Given the description of an element on the screen output the (x, y) to click on. 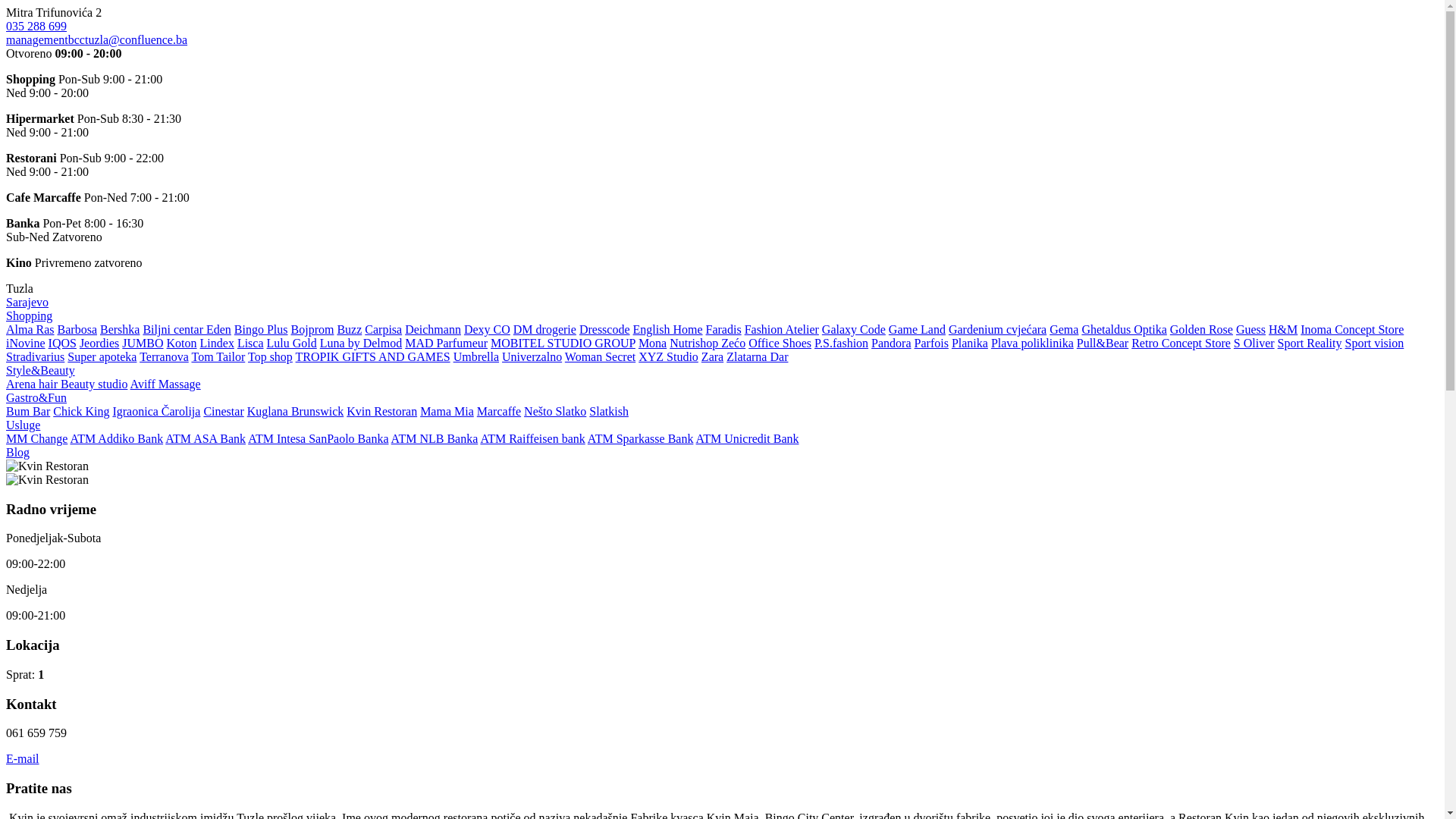
Golden Rose Element type: text (1201, 329)
Carpisa Element type: text (382, 329)
Buzz Element type: text (348, 329)
Mona Element type: text (652, 342)
035 288 699 Element type: text (36, 25)
Barbosa Element type: text (77, 329)
Blog Element type: text (17, 451)
Parfois Element type: text (931, 342)
TROPIK GIFTS AND GAMES Element type: text (372, 356)
Fashion Atelier Element type: text (781, 329)
DM drogerie Element type: text (544, 329)
Style&Beauty Element type: text (40, 370)
Kuglana Brunswick Element type: text (295, 410)
IQOS Element type: text (62, 342)
MM Change Element type: text (36, 438)
XYZ Studio Element type: text (668, 356)
Alma Ras Element type: text (30, 329)
Office Shoes Element type: text (779, 342)
ATM Sparkasse Bank Element type: text (640, 438)
Retro Concept Store Element type: text (1180, 342)
Koton Element type: text (181, 342)
Usluge Element type: text (23, 424)
Shopping Element type: text (29, 315)
ATM Raiffeisen bank Element type: text (532, 438)
ATM NLB Banka Element type: text (434, 438)
English Home Element type: text (667, 329)
Lisca Element type: text (250, 342)
Zara Element type: text (712, 356)
Cinestar Element type: text (223, 410)
Chick King Element type: text (81, 410)
MOBITEL STUDIO GROUP Element type: text (562, 342)
Sarajevo Element type: text (27, 301)
Bershka Element type: text (119, 329)
Guess Element type: text (1250, 329)
ATM ASA Bank Element type: text (205, 438)
Tom Tailor Element type: text (217, 356)
Gastro&Fun Element type: text (36, 397)
MAD Parfumeur Element type: text (445, 342)
H&M Element type: text (1282, 329)
Marcaffe Element type: text (498, 410)
iNovine Element type: text (25, 342)
E-mail Element type: text (22, 758)
Terranova Element type: text (163, 356)
Lindex Element type: text (217, 342)
Top shop Element type: text (269, 356)
Aviff Massage Element type: text (165, 383)
Faradis Element type: text (723, 329)
ATM Unicredit Bank Element type: text (747, 438)
JUMBO Element type: text (142, 342)
Umbrella Element type: text (475, 356)
Kvin Restoran Element type: text (381, 410)
Gema Element type: text (1063, 329)
P.S.fashion Element type: text (841, 342)
Slatkish Element type: text (608, 410)
Luna by Delmod Element type: text (360, 342)
Lulu Gold Element type: text (291, 342)
ATM Addiko Bank Element type: text (116, 438)
ATM Intesa SanPaolo Banka Element type: text (317, 438)
Inoma Concept Store Element type: text (1351, 329)
Sport Reality Element type: text (1309, 342)
Sport vision Element type: text (1374, 342)
managementbcctuzla@confluence.ba Element type: text (96, 39)
Univerzalno Element type: text (531, 356)
Game Land Element type: text (916, 329)
Bojprom Element type: text (312, 329)
Zlatarna Dar Element type: text (756, 356)
Bingo Plus Element type: text (261, 329)
Bum Bar Element type: text (28, 410)
Arena hair Beauty studio Element type: text (66, 383)
Super apoteka Element type: text (101, 356)
Dresscode Element type: text (604, 329)
Dexy CO Element type: text (487, 329)
Planika Element type: text (969, 342)
Ghetaldus Optika Element type: text (1123, 329)
Woman Secret Element type: text (599, 356)
Stradivarius Element type: text (35, 356)
Plava poliklinika Element type: text (1032, 342)
Mama Mia Element type: text (446, 410)
Galaxy Code Element type: text (853, 329)
Jeordies Element type: text (99, 342)
Pull&Bear Element type: text (1102, 342)
Pandora Element type: text (890, 342)
Biljni centar Eden Element type: text (186, 329)
S Oliver Element type: text (1253, 342)
Deichmann Element type: text (432, 329)
